Given the description of an element on the screen output the (x, y) to click on. 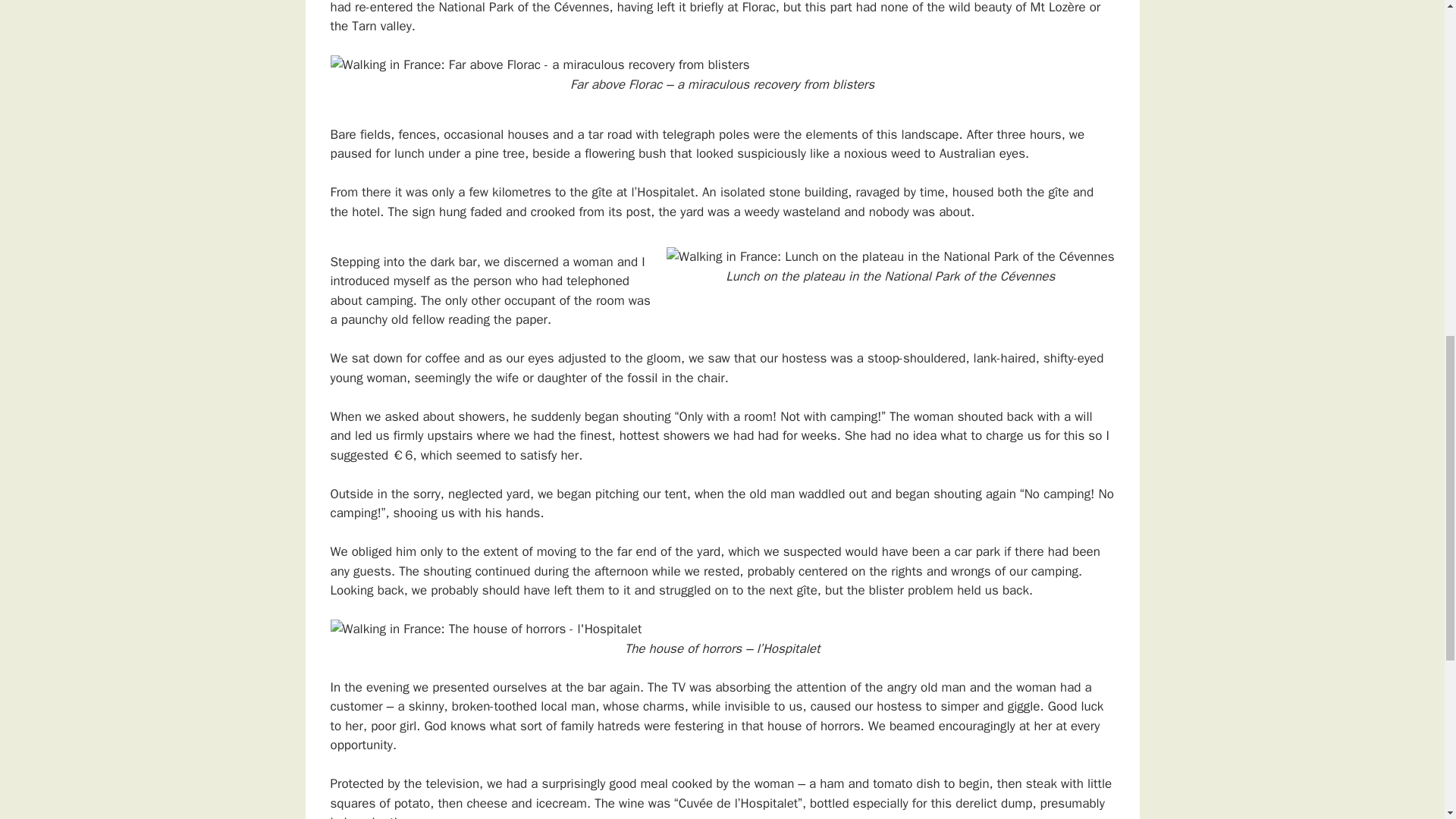
Scroll back to top (1395, 681)
